Given the description of an element on the screen output the (x, y) to click on. 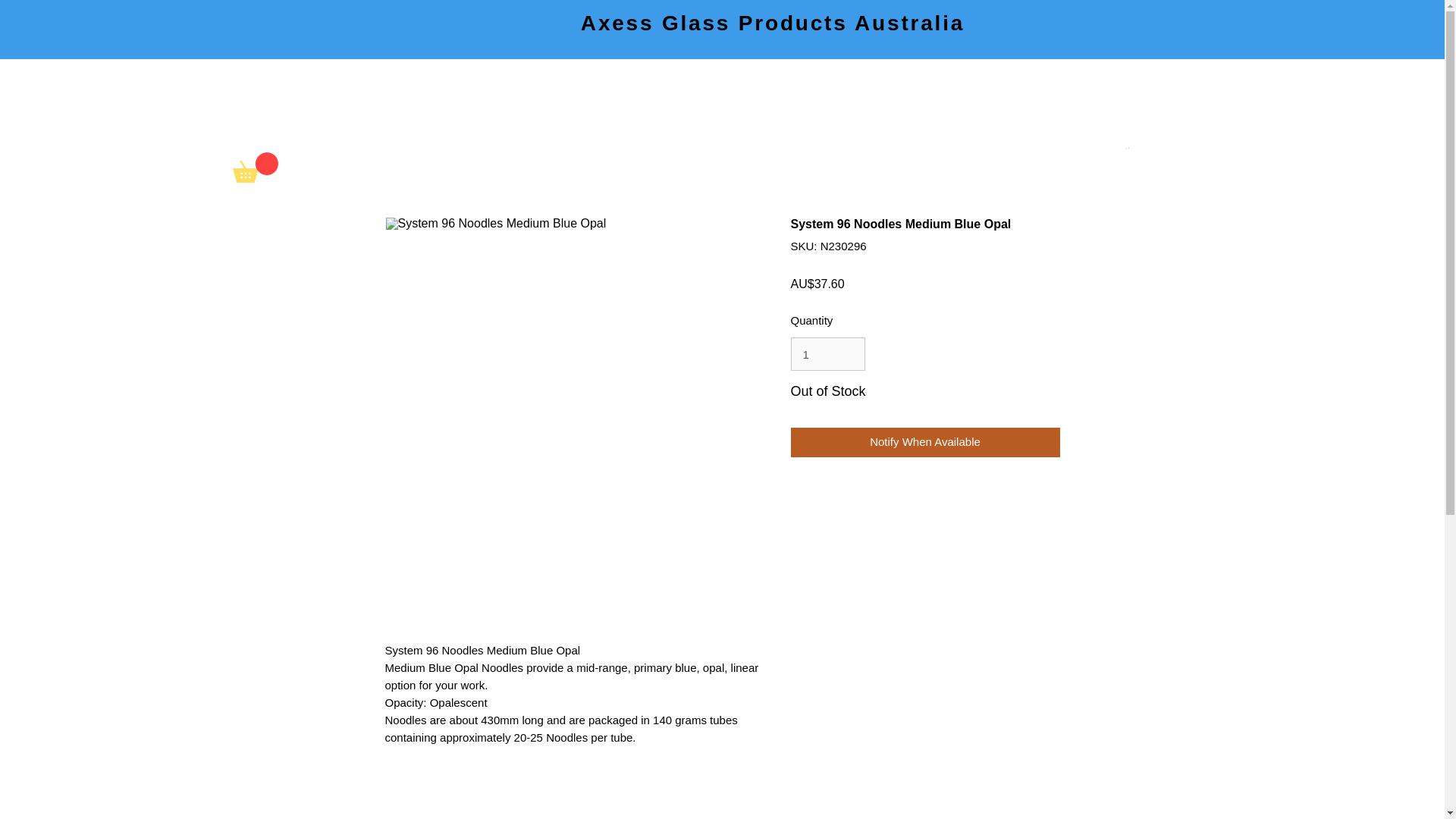
Notify When Available (924, 442)
Axess Glass Products Australia (771, 23)
1 (827, 354)
